Given the description of an element on the screen output the (x, y) to click on. 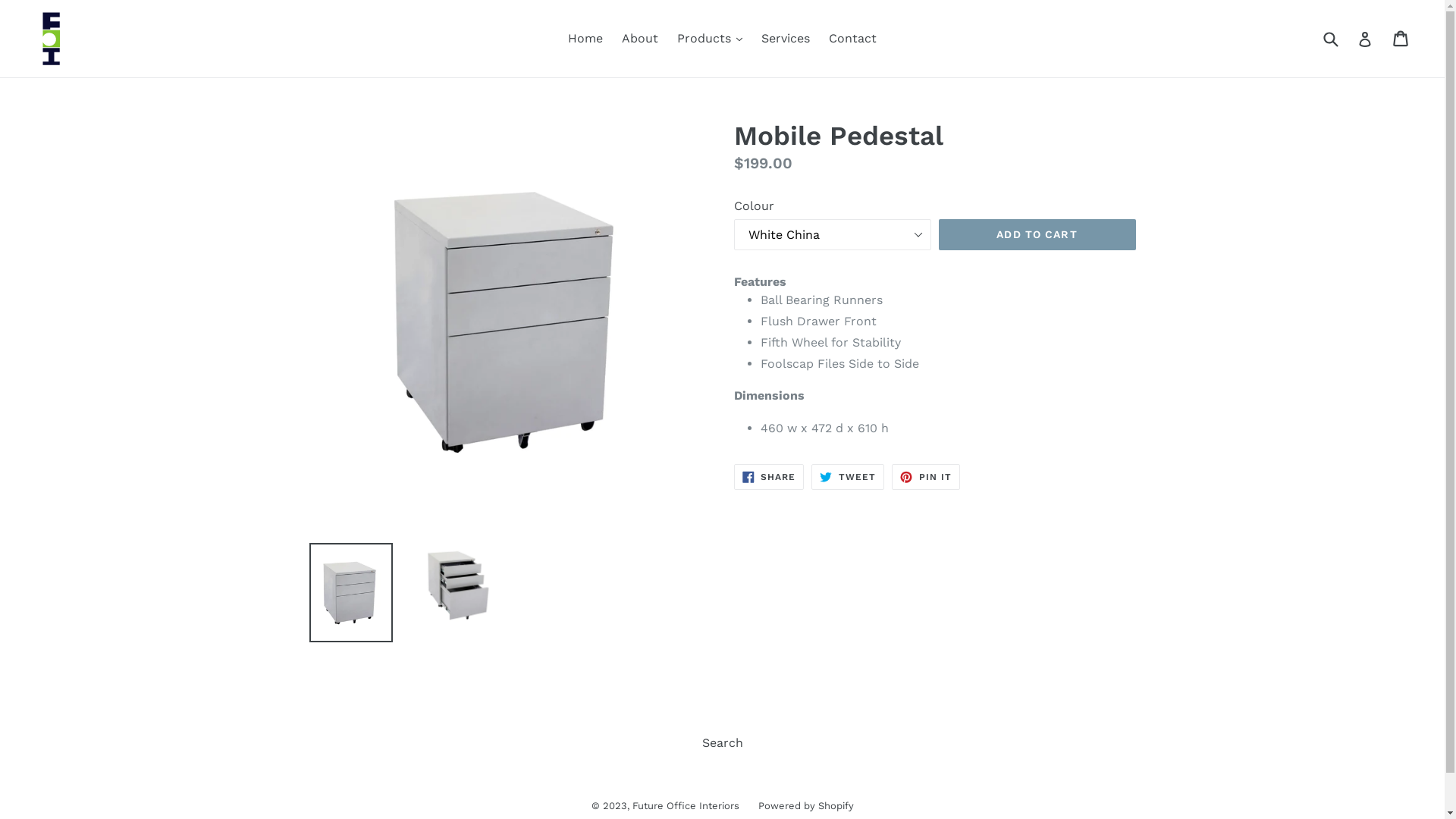
Home Element type: text (585, 38)
Future Office Interiors Element type: text (685, 805)
Search Element type: text (722, 742)
PIN IT
PIN ON PINTEREST Element type: text (925, 476)
About Element type: text (639, 38)
Submit Element type: text (1329, 37)
Log in Element type: text (1364, 38)
Cart
Cart Element type: text (1401, 38)
Powered by Shopify Element type: text (805, 805)
ADD TO CART Element type: text (1036, 235)
SHARE
SHARE ON FACEBOOK Element type: text (769, 476)
Services Element type: text (785, 38)
Contact Element type: text (852, 38)
TWEET
TWEET ON TWITTER Element type: text (847, 476)
